Given the description of an element on the screen output the (x, y) to click on. 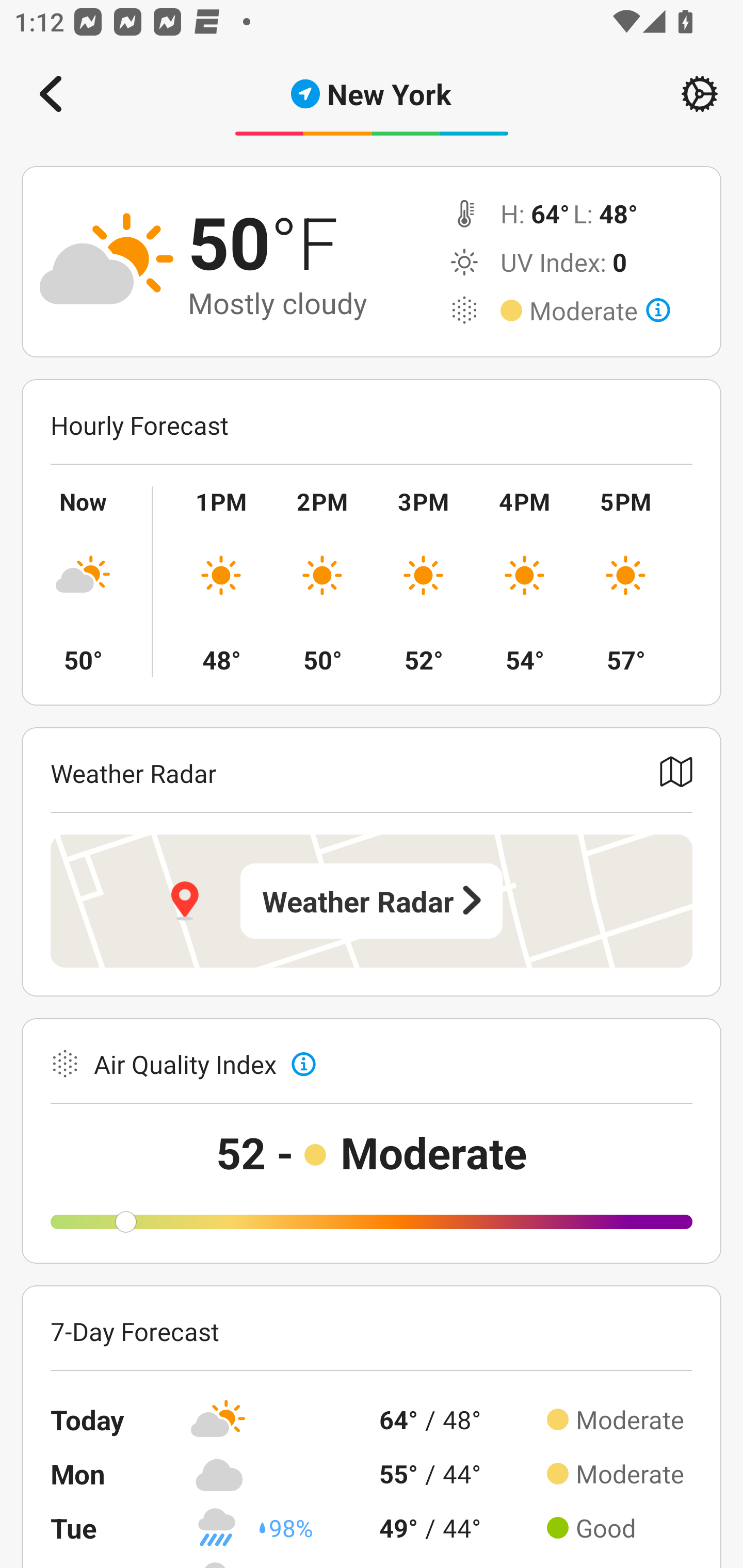
Navigate up (50, 93)
Setting (699, 93)
Moderate (599, 310)
Weather Radar (371, 900)
